Given the description of an element on the screen output the (x, y) to click on. 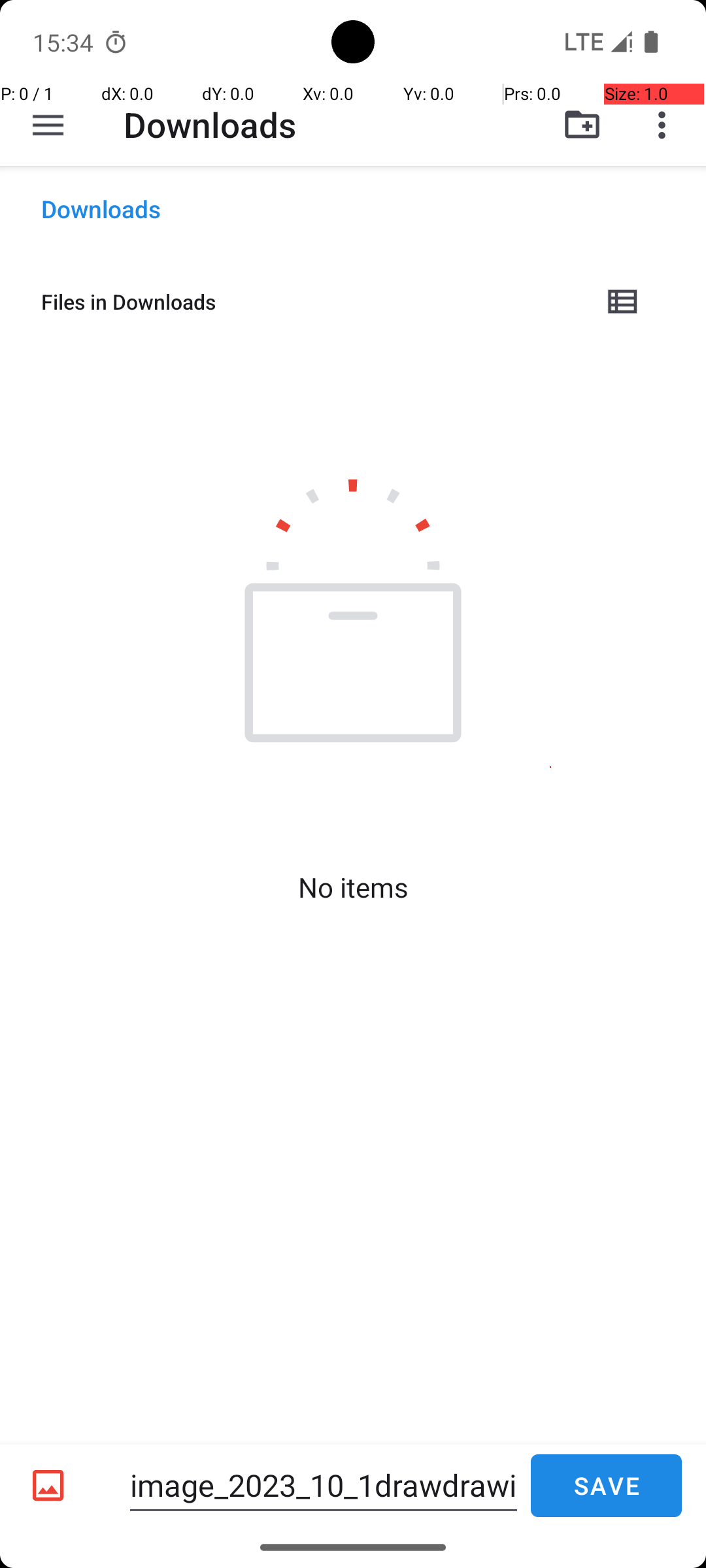
New folder Element type: android.widget.TextView (581, 124)
image_2023_10_1drawdrawing_sketch_2final_sproject_sketch_final_v1ketch_project_v2023_10_01_finaling_sketch_20235_15_34_11.png Element type: android.widget.EditText (323, 1485)
